Given the description of an element on the screen output the (x, y) to click on. 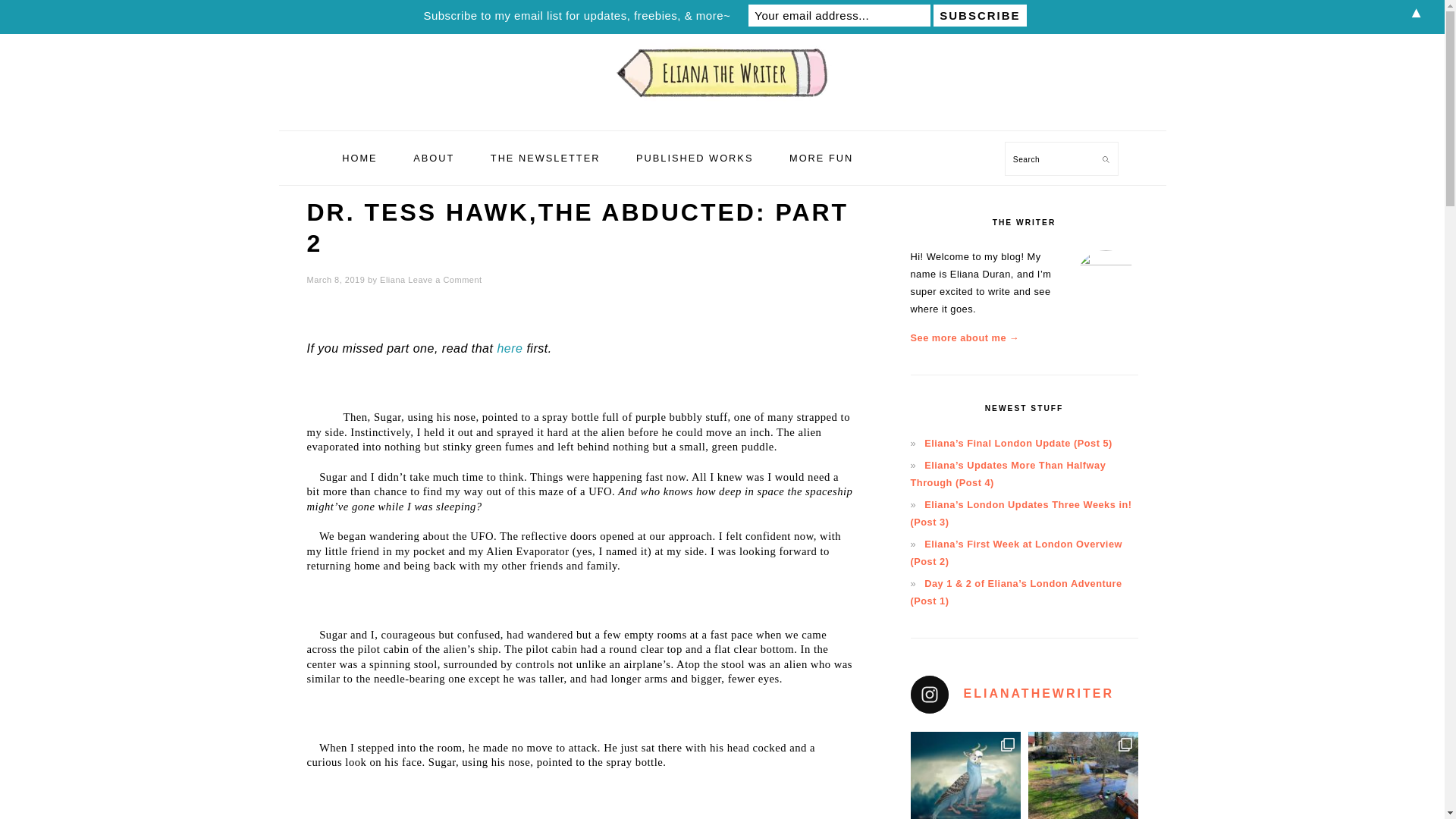
ABOUT (433, 157)
Leave a Comment (444, 279)
Eliana the Writer (721, 112)
MORE FUN (821, 157)
Eliana the Writer (721, 71)
HOME (359, 157)
PUBLISHED WORKS (694, 157)
here (509, 348)
Eliana (393, 279)
Subscribe (979, 15)
THE NEWSLETTER (544, 157)
